Given the description of an element on the screen output the (x, y) to click on. 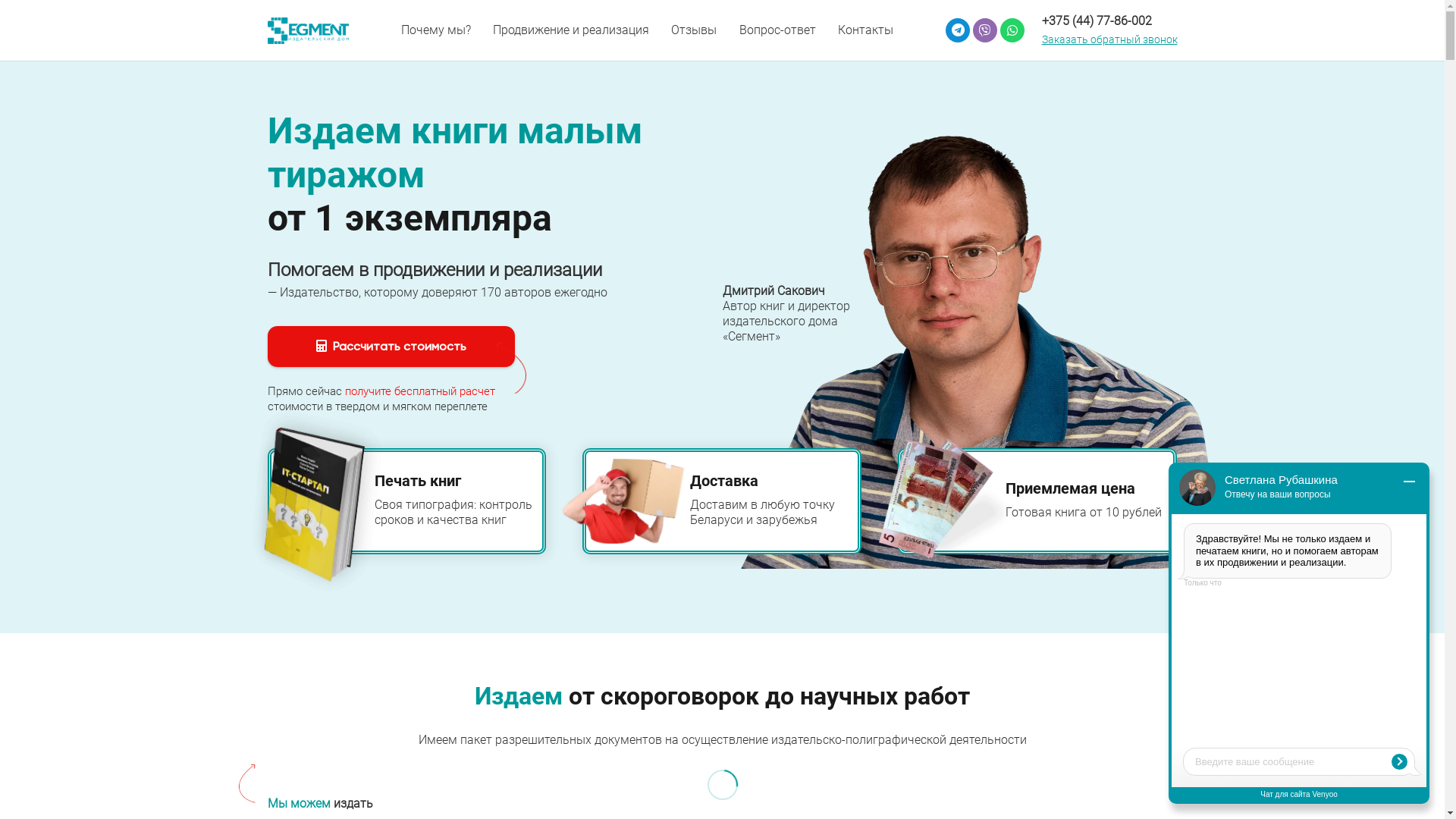
Telegram Element type: hover (957, 30)
+375 (44) 77-86-002 Element type: text (1096, 20)
WhatsApp Element type: hover (1012, 30)
